Given the description of an element on the screen output the (x, y) to click on. 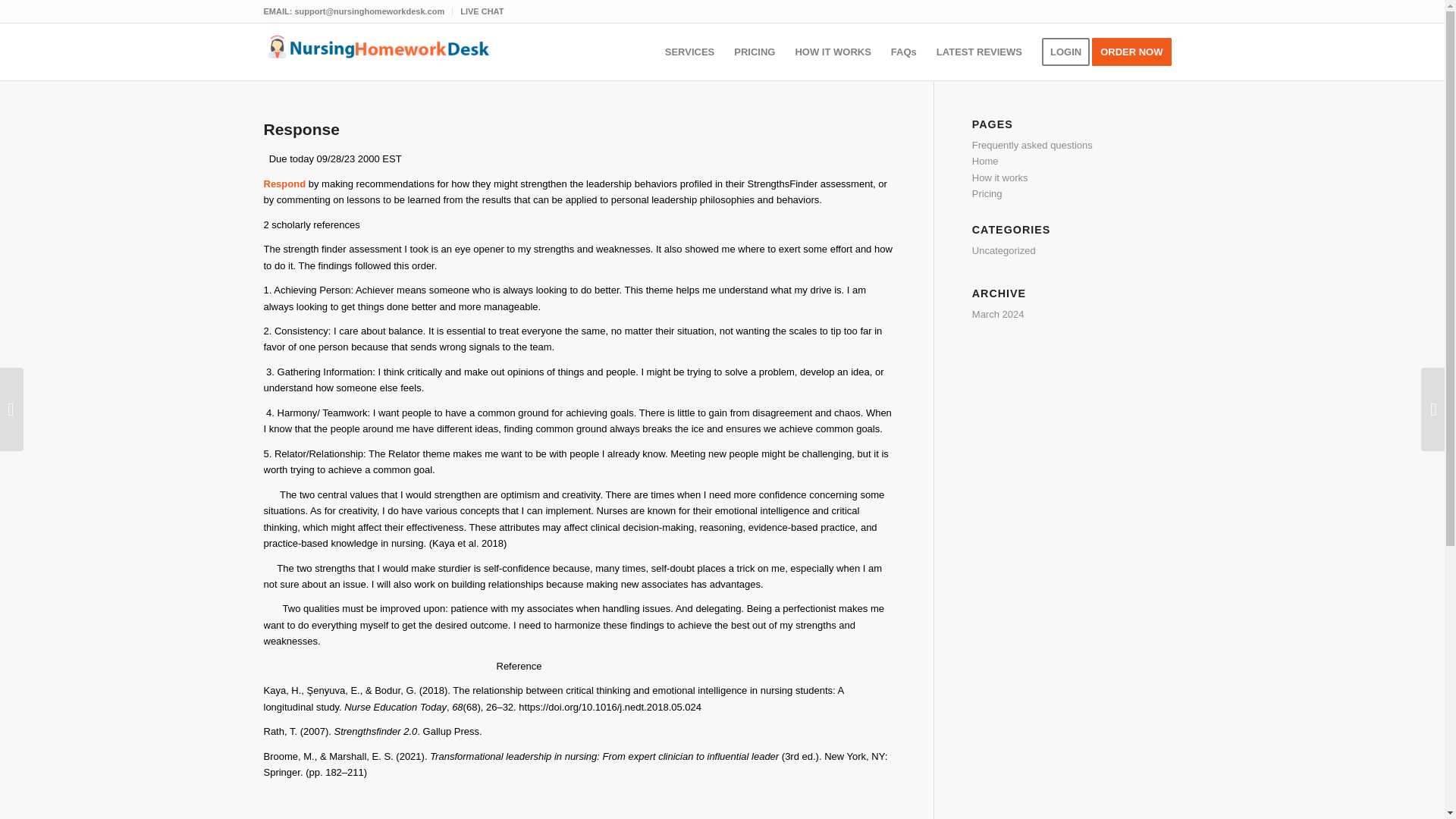
PRICING (753, 51)
Response (301, 129)
Pricing (987, 193)
March 2024 (998, 314)
LIVE CHAT (481, 11)
HOW IT WORKS (832, 51)
How it works (999, 177)
Home (985, 161)
LATEST REVIEWS (979, 51)
Uncategorized (1003, 250)
